Given the description of an element on the screen output the (x, y) to click on. 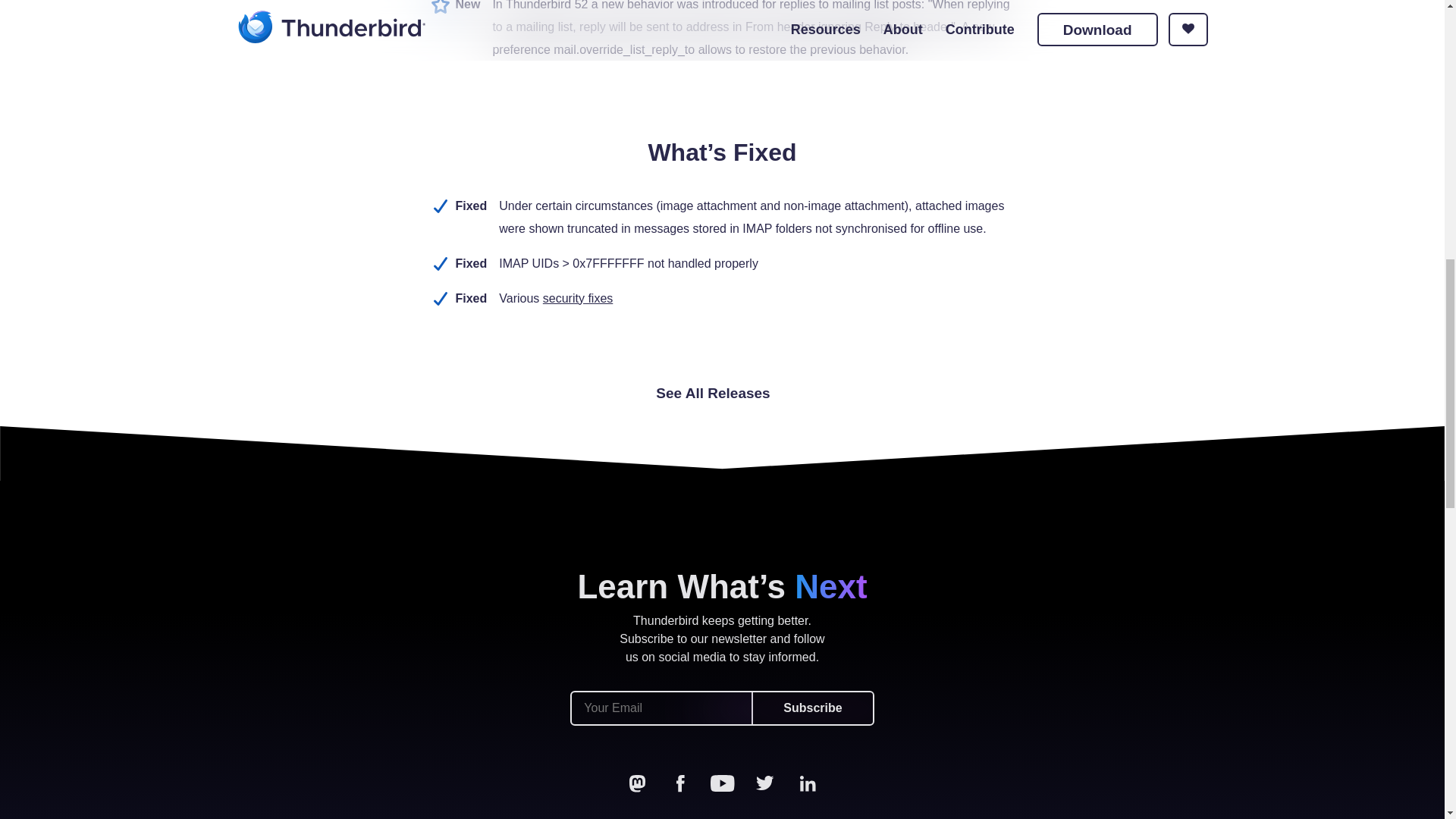
security fixes (577, 297)
See All Releases (721, 392)
Follow Thunderbird on Facebook (678, 783)
Follow thunderbird-email on LinkedIn (806, 783)
Subscribe (811, 707)
